Given the description of an element on the screen output the (x, y) to click on. 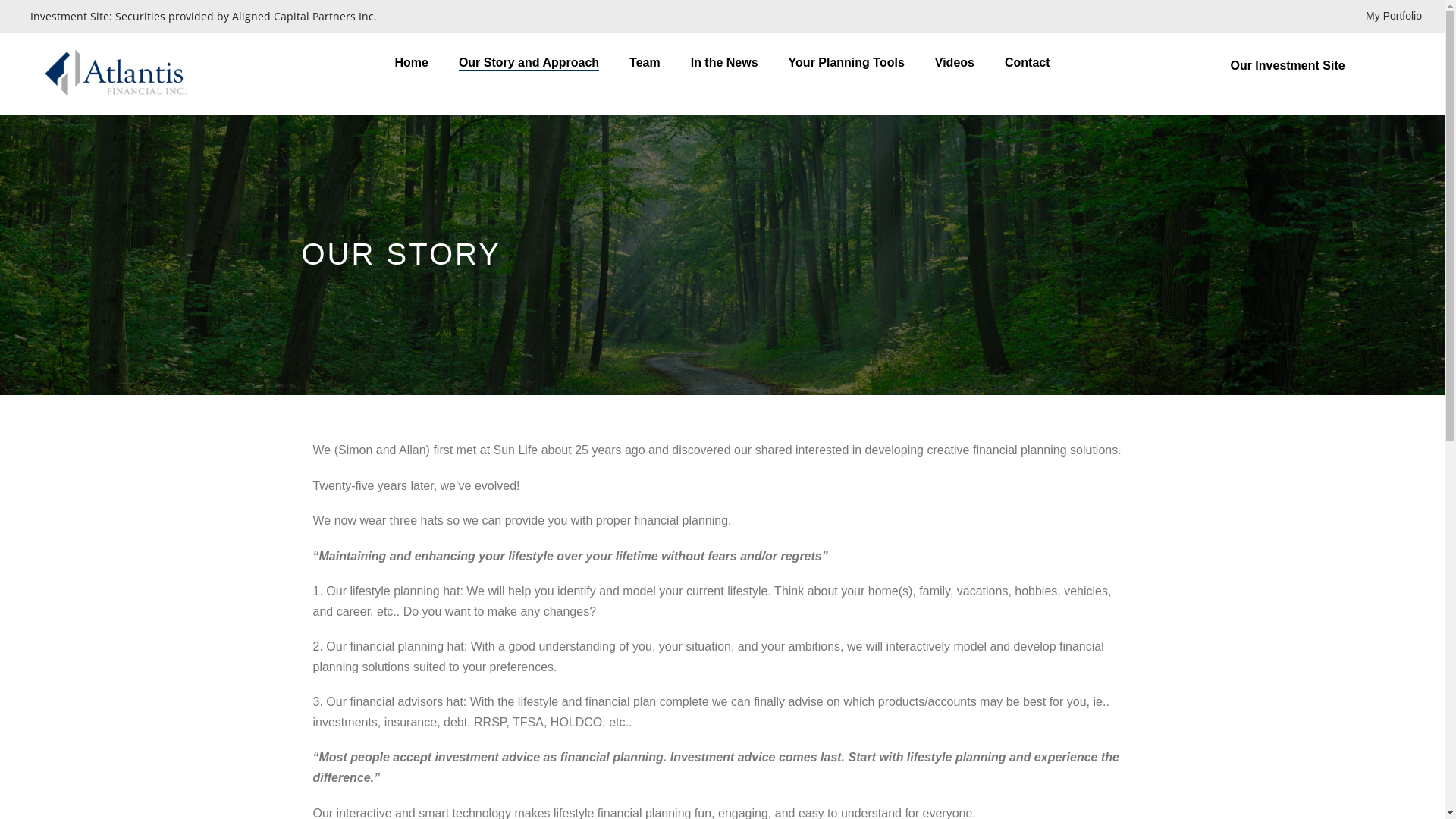
My Portfolio Element type: text (1393, 16)
Our Story and Approach Element type: text (528, 63)
Contact Element type: text (1027, 63)
Our Investment Site Element type: text (1323, 65)
Team Element type: text (644, 63)
Videos Element type: text (954, 63)
Home Element type: text (410, 63)
Your Planning Tools Element type: text (846, 63)
In the News Element type: text (724, 63)
Clarity Confidence, Freedom Lifestyle Financial Planning Element type: hover (125, 73)
